Given the description of an element on the screen output the (x, y) to click on. 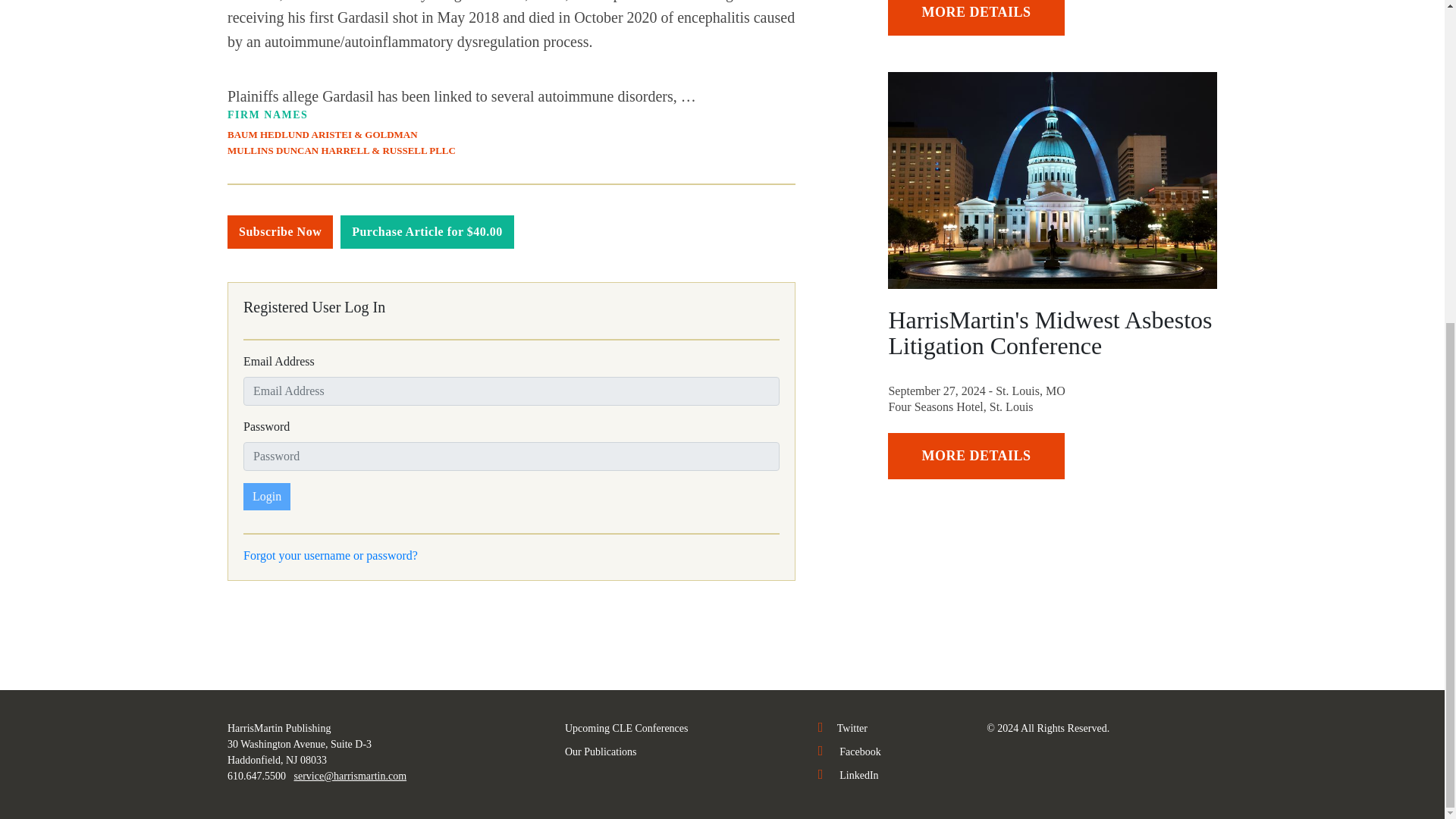
Facebook (849, 751)
Upcoming CLE Conferences (626, 727)
Twitter (842, 727)
Login (266, 496)
Forgot your username or password? (330, 554)
Subscribe Now (280, 231)
MORE DETAILS (976, 456)
MORE DETAILS (976, 18)
LinkedIn (848, 775)
Our Publications (600, 751)
